Given the description of an element on the screen output the (x, y) to click on. 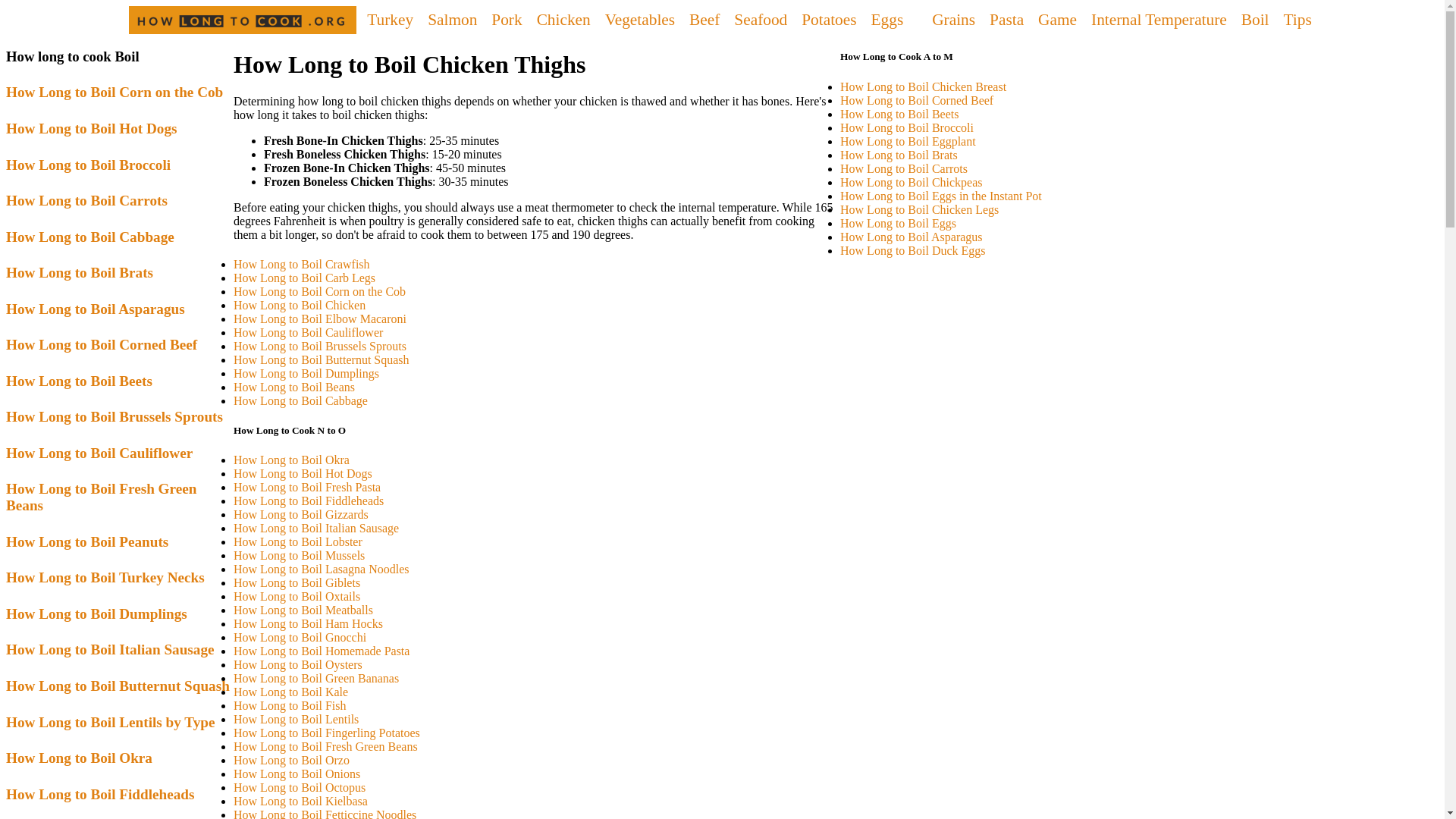
Pork (504, 19)
Turkey (387, 19)
Salmon (450, 19)
